Given the description of an element on the screen output the (x, y) to click on. 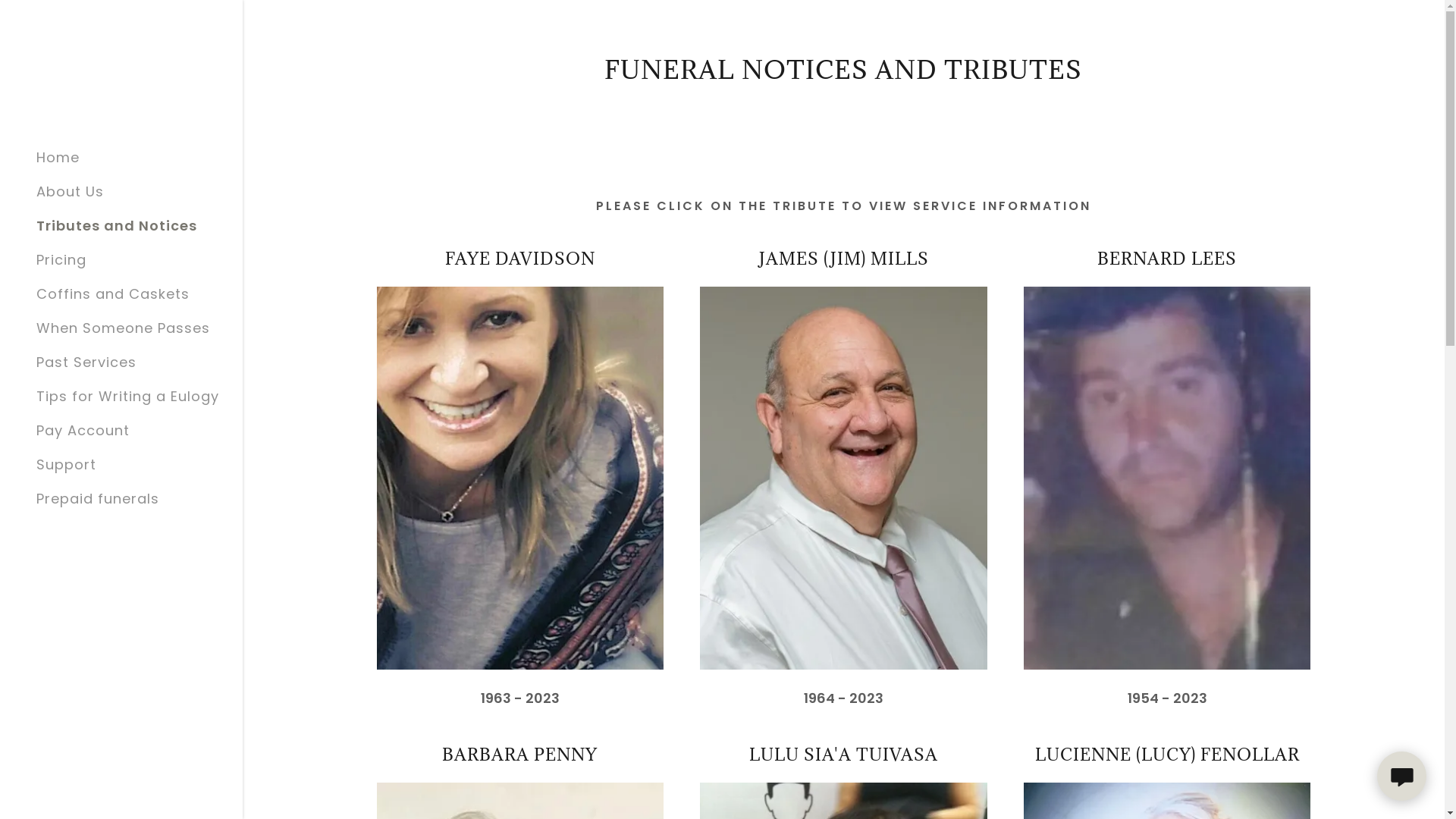
Support Element type: text (66, 464)
Home Element type: text (57, 156)
Tributes and Notices Element type: text (116, 225)
Pricing Element type: text (61, 259)
Coffins and Caskets Element type: text (112, 293)
When Someone Passes Element type: text (123, 327)
Pay Account Element type: text (82, 429)
About Us Element type: text (69, 191)
Prepaid funerals Element type: text (97, 498)
Tips for Writing a Eulogy Element type: text (127, 395)
Past Services Element type: text (86, 361)
